Given the description of an element on the screen output the (x, y) to click on. 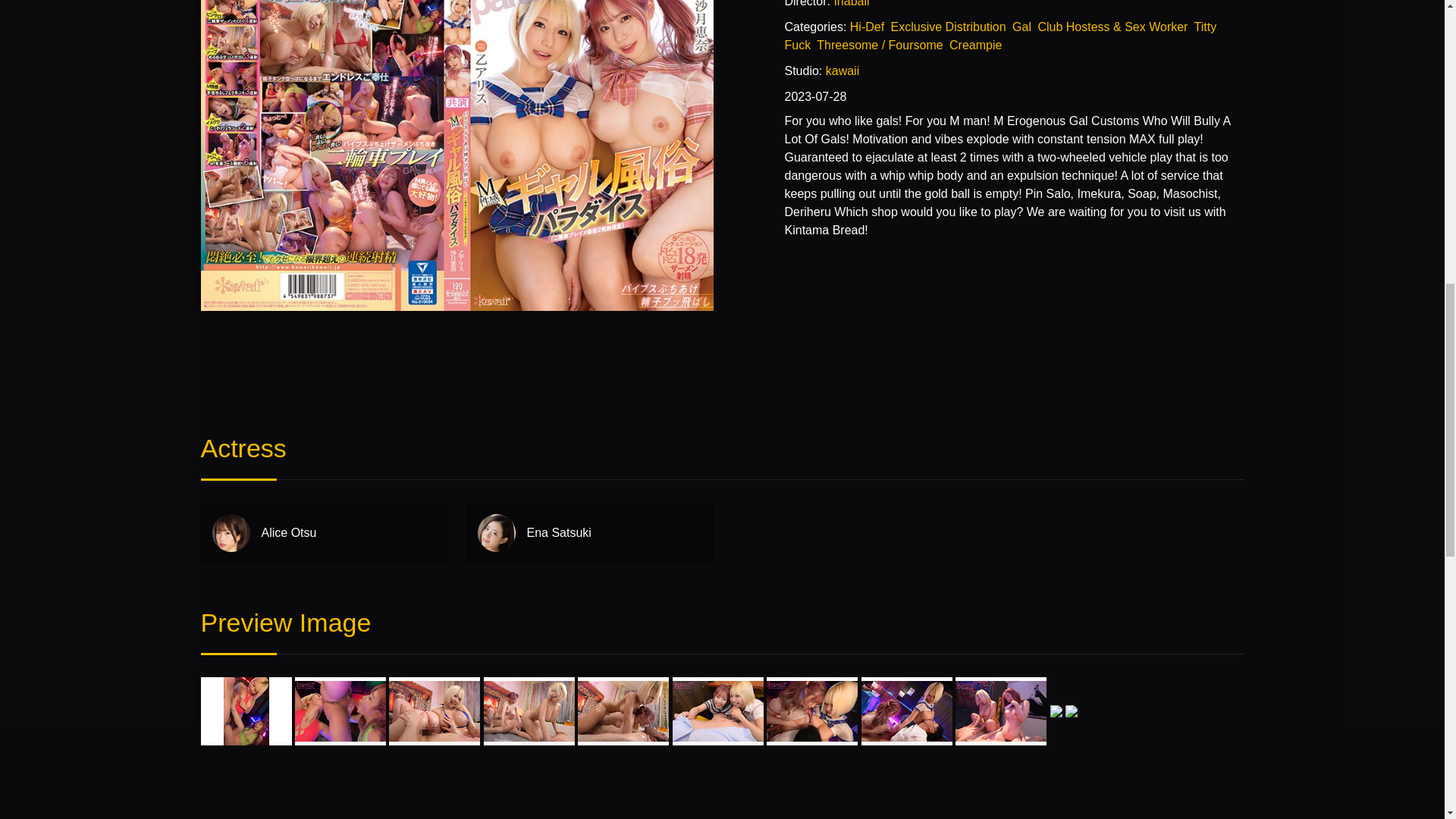
Creampie (975, 44)
Titty Fuck (999, 35)
Hi-Def (866, 26)
Ena Satsuki (589, 532)
Alice Otsu (323, 532)
kawaii (842, 70)
Gal (1020, 26)
Exclusive Distribution (948, 26)
Inaball (850, 3)
